Given the description of an element on the screen output the (x, y) to click on. 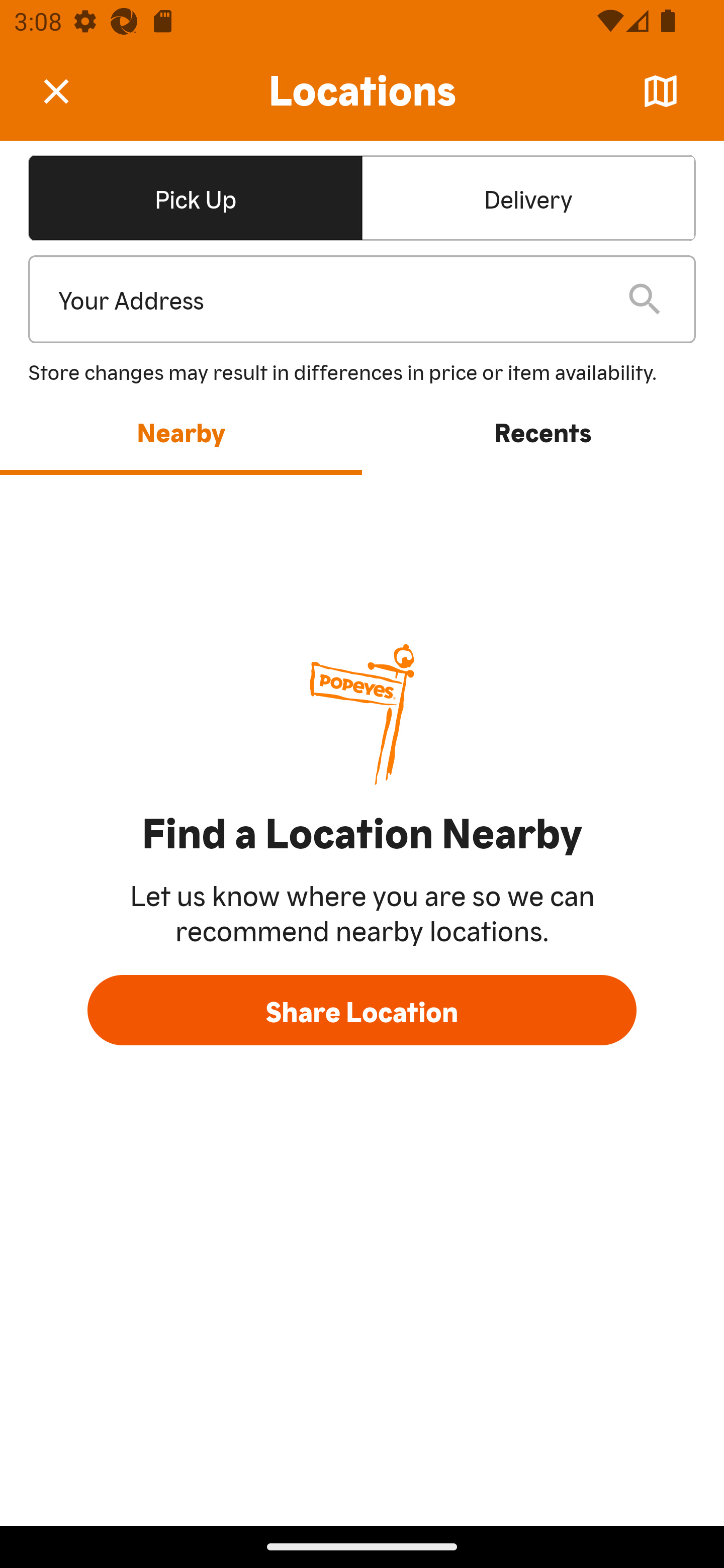
 (70, 90)
Map 󰦂 (660, 91)
Locations (362, 91)
Pick UpSelected Pick UpSelected Pick Up (195, 197)
Delivery Delivery Delivery (528, 197)
Your Address (327, 299)
Nearby (181, 430)
Recents (543, 430)
Share Location (361, 1010)
